Given the description of an element on the screen output the (x, y) to click on. 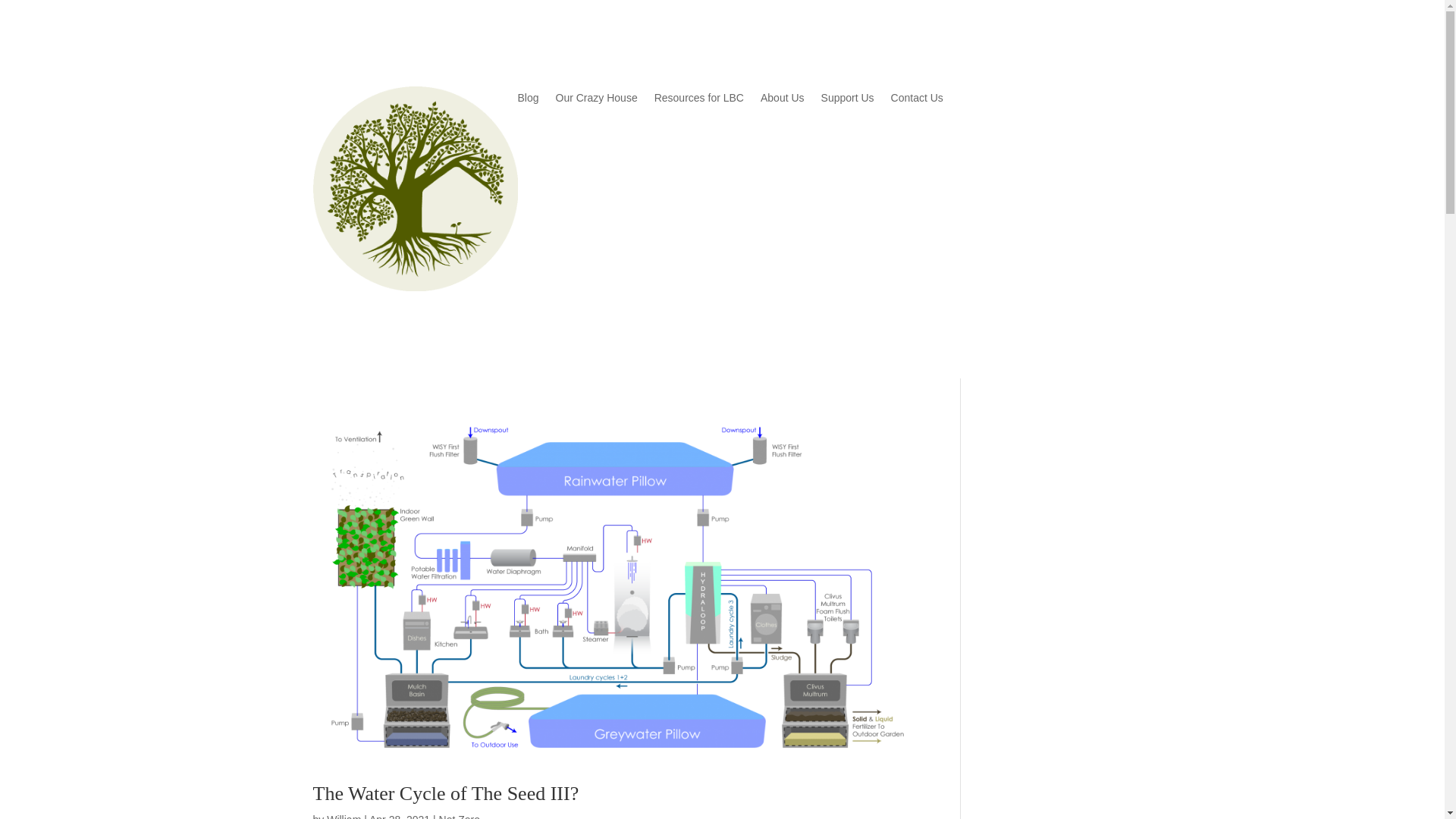
Support Us (848, 100)
William (343, 816)
About Us (782, 100)
Contact Us (917, 100)
Resources for LBC (698, 100)
Blog (527, 100)
Our Crazy House (596, 100)
Posts by William (343, 816)
The Water Cycle of The Seed III? (445, 793)
Net Zero (459, 816)
